Given the description of an element on the screen output the (x, y) to click on. 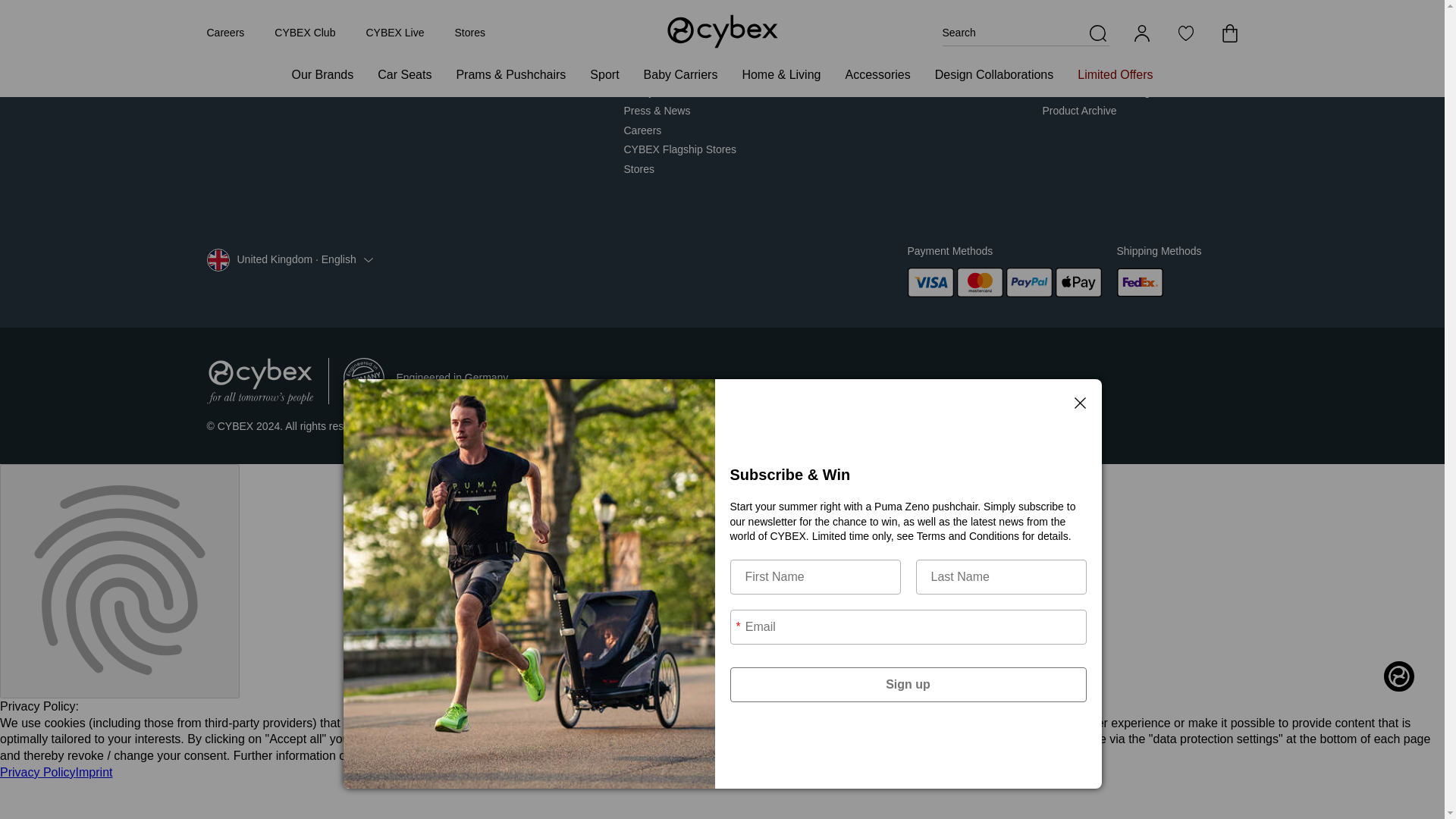
CYBEX for all tomorrow's people (259, 380)
